Given the description of an element on the screen output the (x, y) to click on. 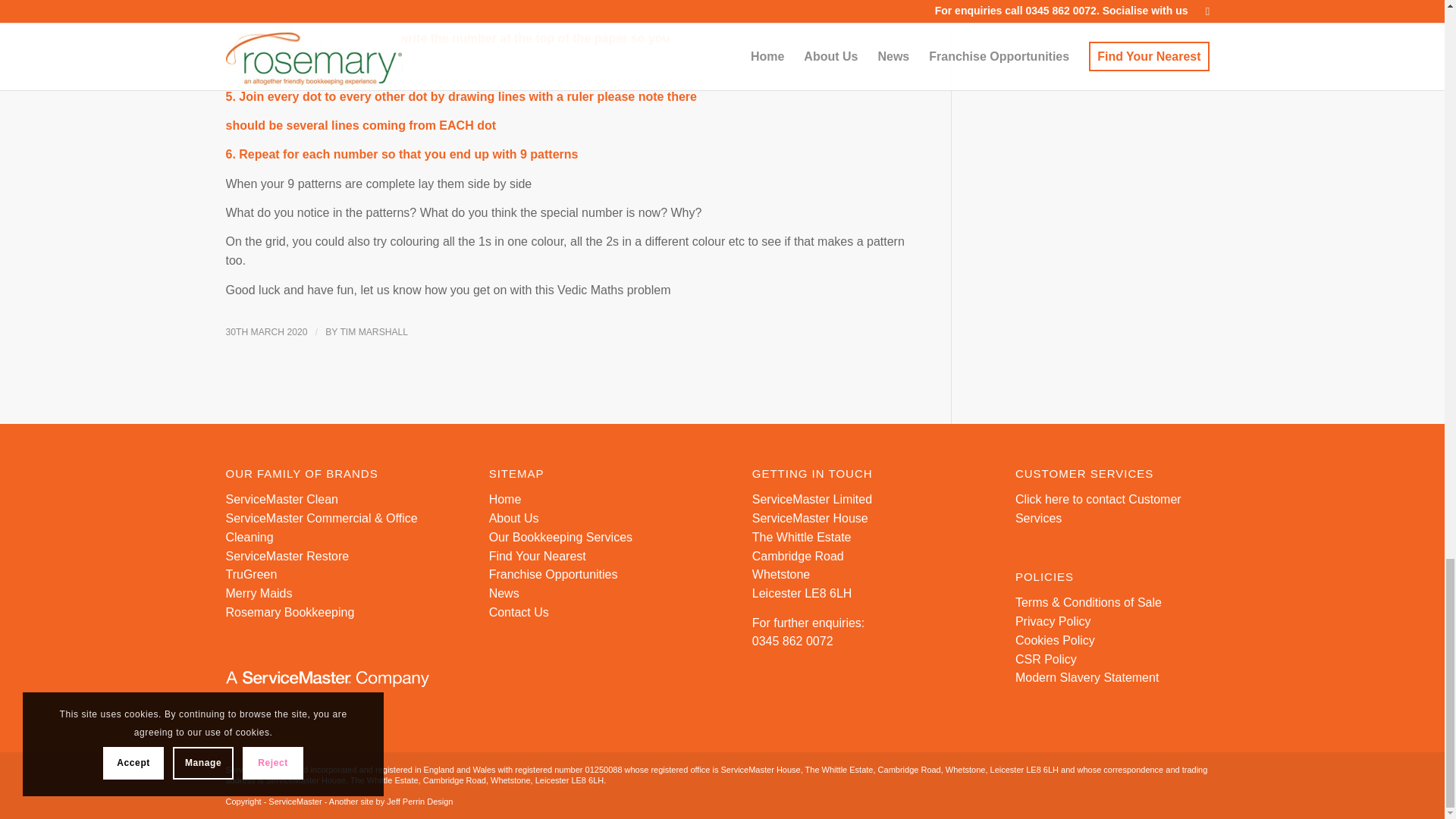
TruGreen (251, 574)
Posts by Tim Marshall (373, 331)
ServiceMaster Clean (282, 499)
ServiceMaster Restore (287, 555)
Rosemary Bookkeeping (290, 612)
ServiceMaster Clean (282, 499)
ServiceMaster Restore (287, 555)
Merry Maids (258, 593)
TIM MARSHALL (373, 331)
